Given the description of an element on the screen output the (x, y) to click on. 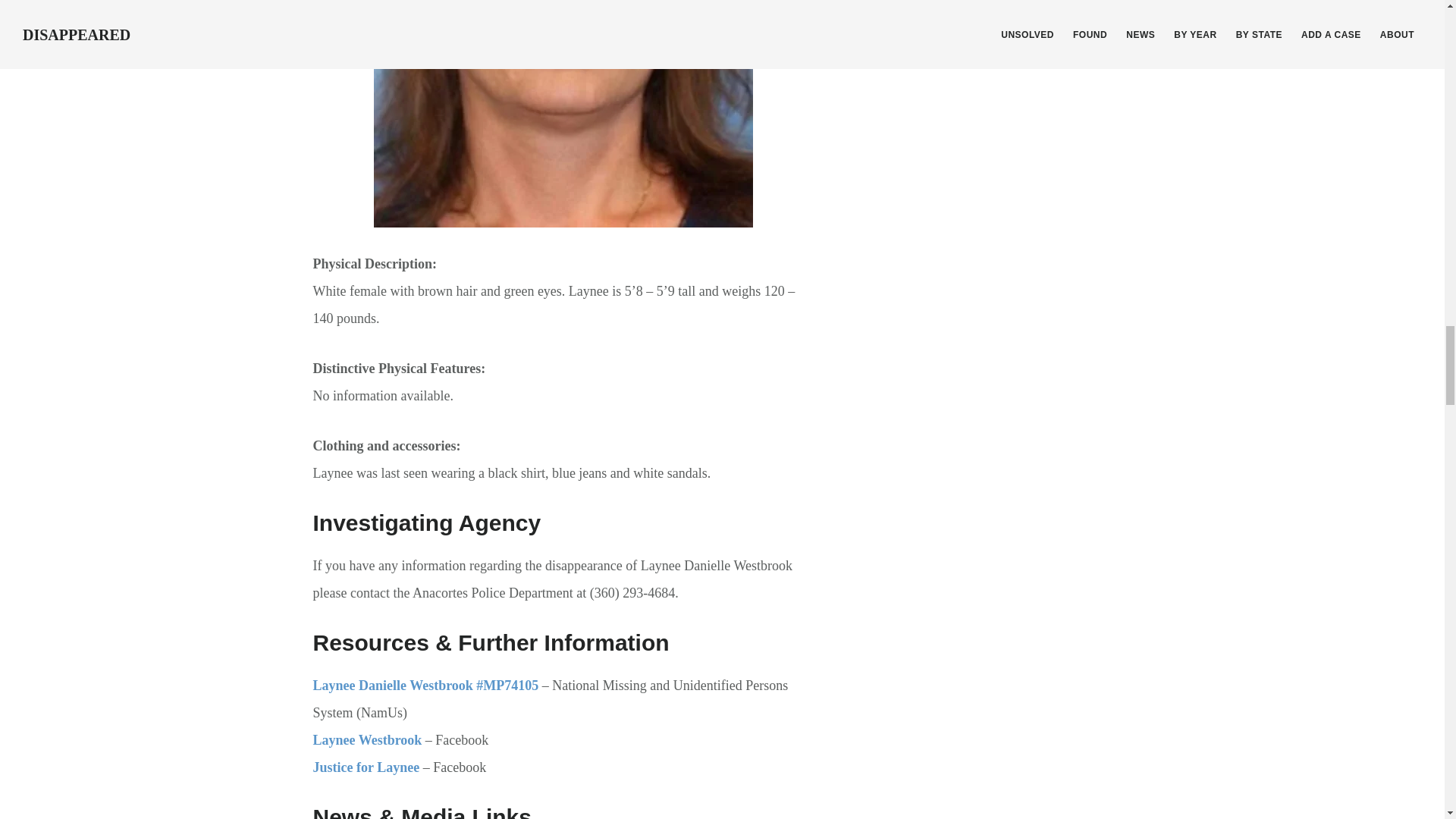
Laynee Westbrook (367, 739)
Justice for Laynee (366, 767)
